Given the description of an element on the screen output the (x, y) to click on. 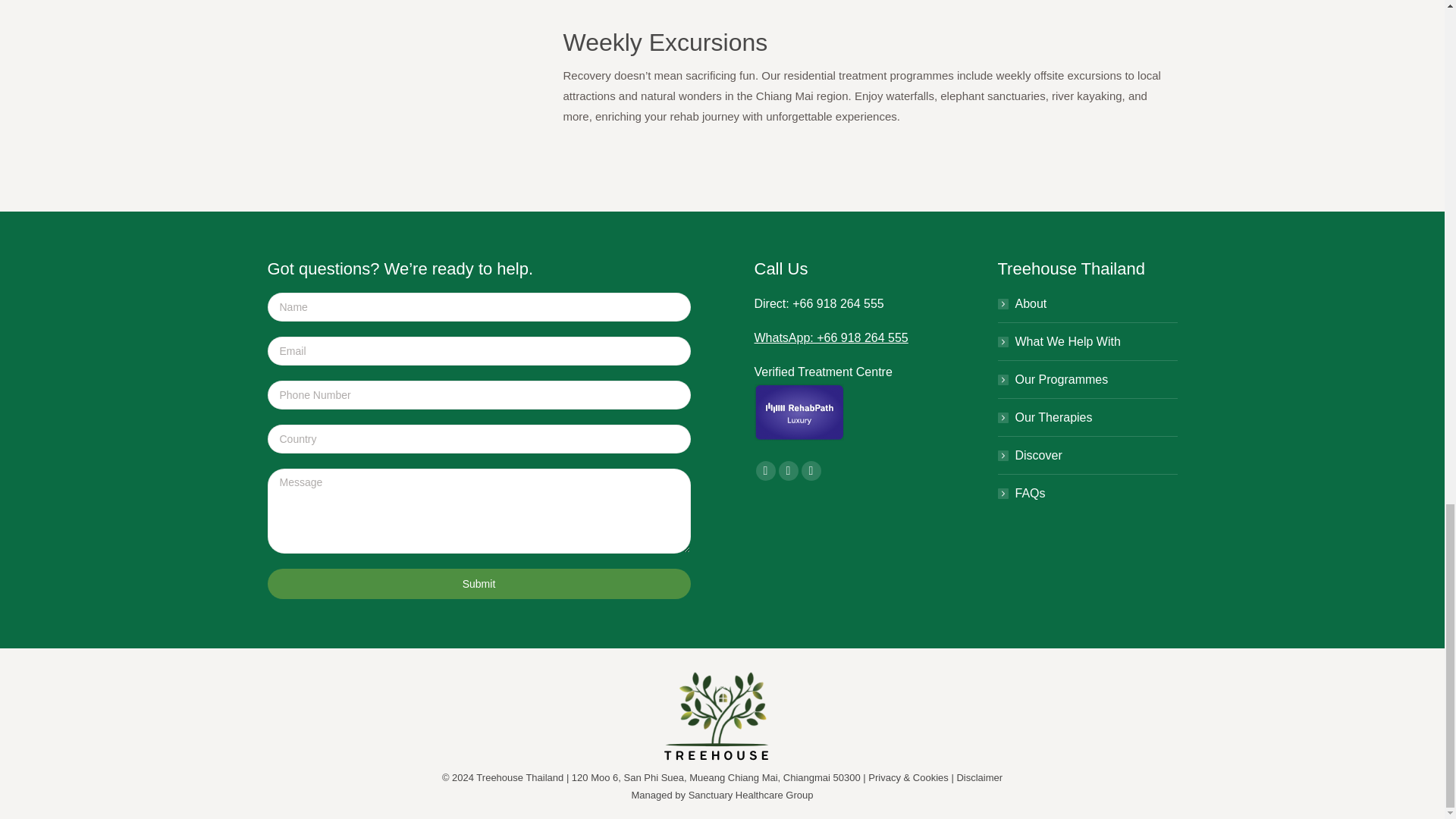
Submit (478, 583)
YouTube page opens in new window (810, 470)
X page opens in new window (787, 470)
Facebook page opens in new window (764, 470)
